Given the description of an element on the screen output the (x, y) to click on. 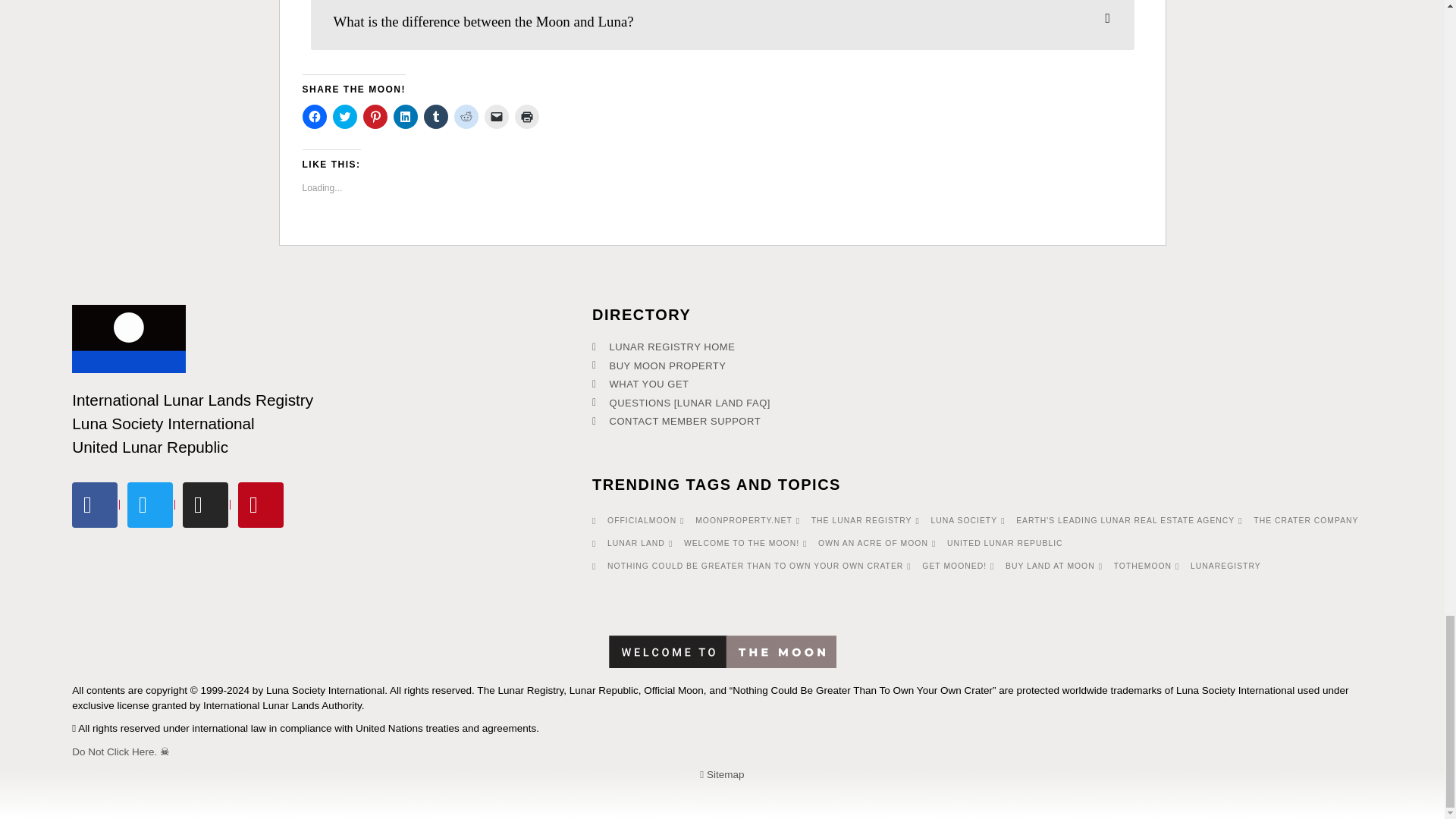
Click to share on LinkedIn (404, 116)
Click to share on Tumblr (434, 116)
Click to share on Twitter (343, 116)
Click to print (525, 116)
Click to share on Reddit (464, 116)
Click to email a link to a friend (495, 116)
Click to share on Pinterest (374, 116)
Click to share on Facebook (313, 116)
